Given the description of an element on the screen output the (x, y) to click on. 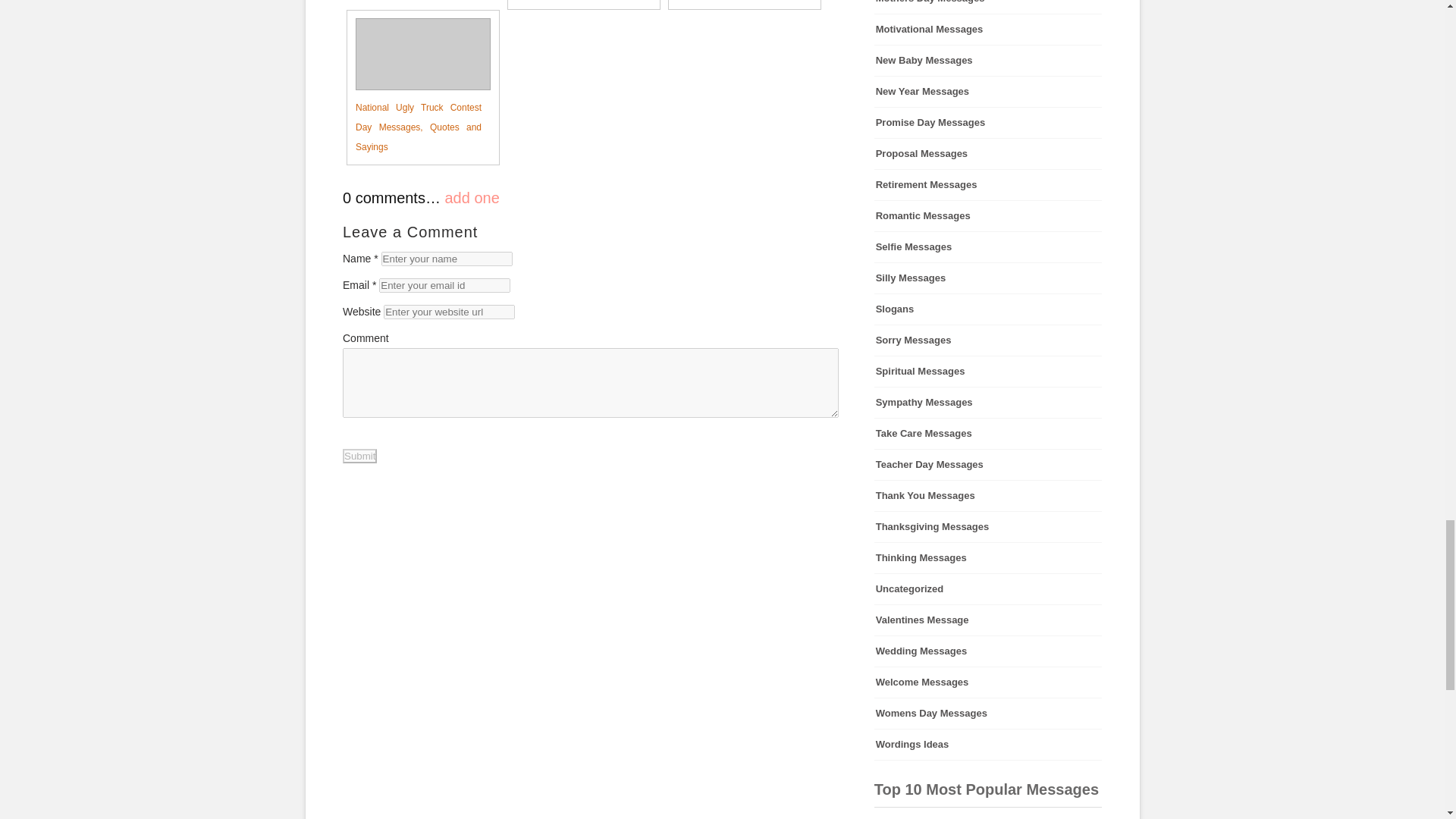
Submit (359, 455)
National Ugly Truck Contest Day Messages, Quotes and Sayings (414, 87)
appreciation message (988, 816)
Submit (359, 455)
National Ugly Truck Contest Day Messages, Quotes and Sayings (414, 87)
add one (471, 197)
